Given the description of an element on the screen output the (x, y) to click on. 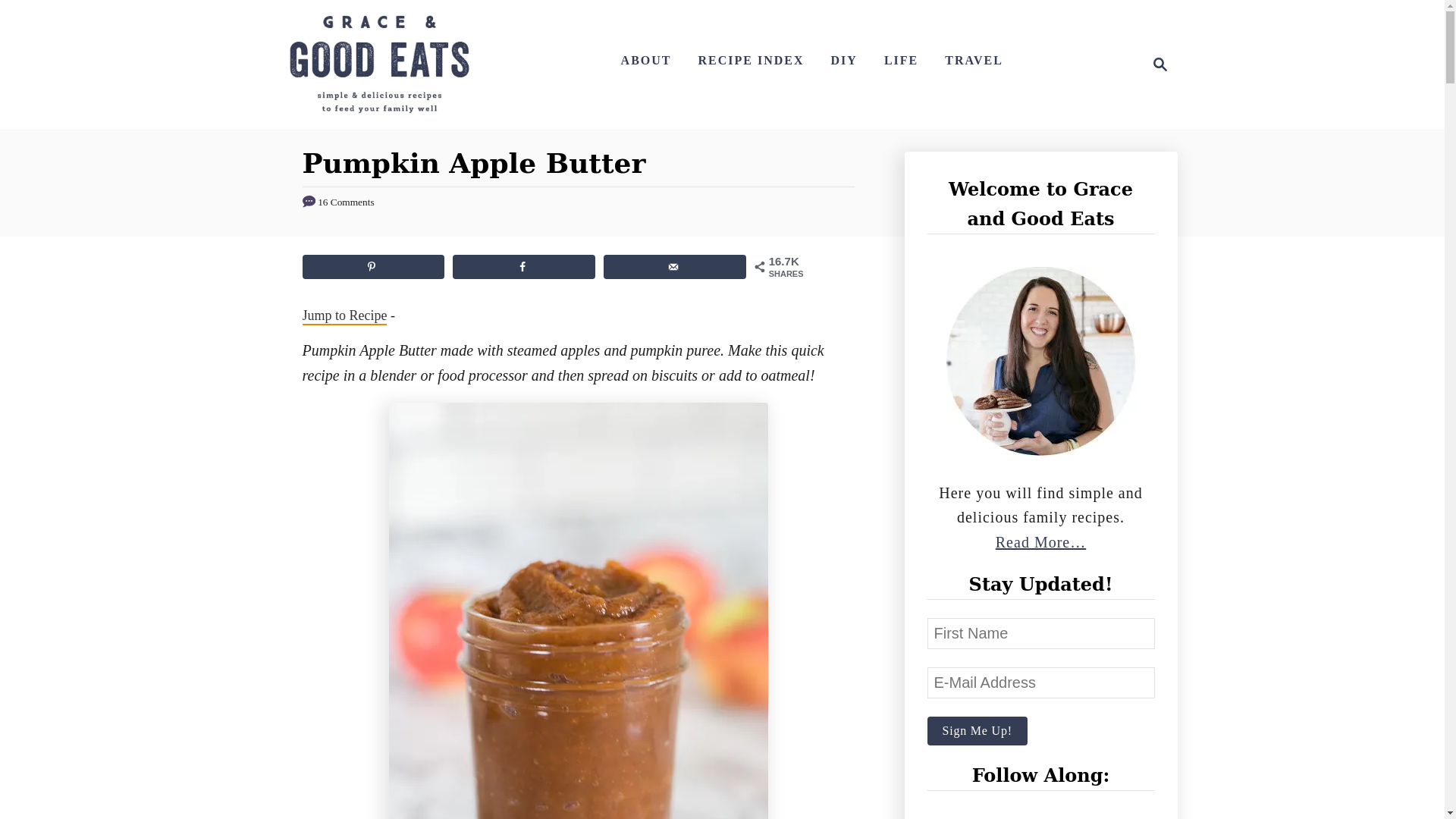
Share on Facebook (523, 266)
RECIPE INDEX (751, 60)
Save to Pinterest (372, 266)
Follow on Pinterest (1018, 814)
Grace and Good Eats (1155, 64)
Send over email (379, 64)
TRAVEL (674, 266)
ABOUT (973, 60)
Sign Me Up! (645, 60)
